Given the description of an element on the screen output the (x, y) to click on. 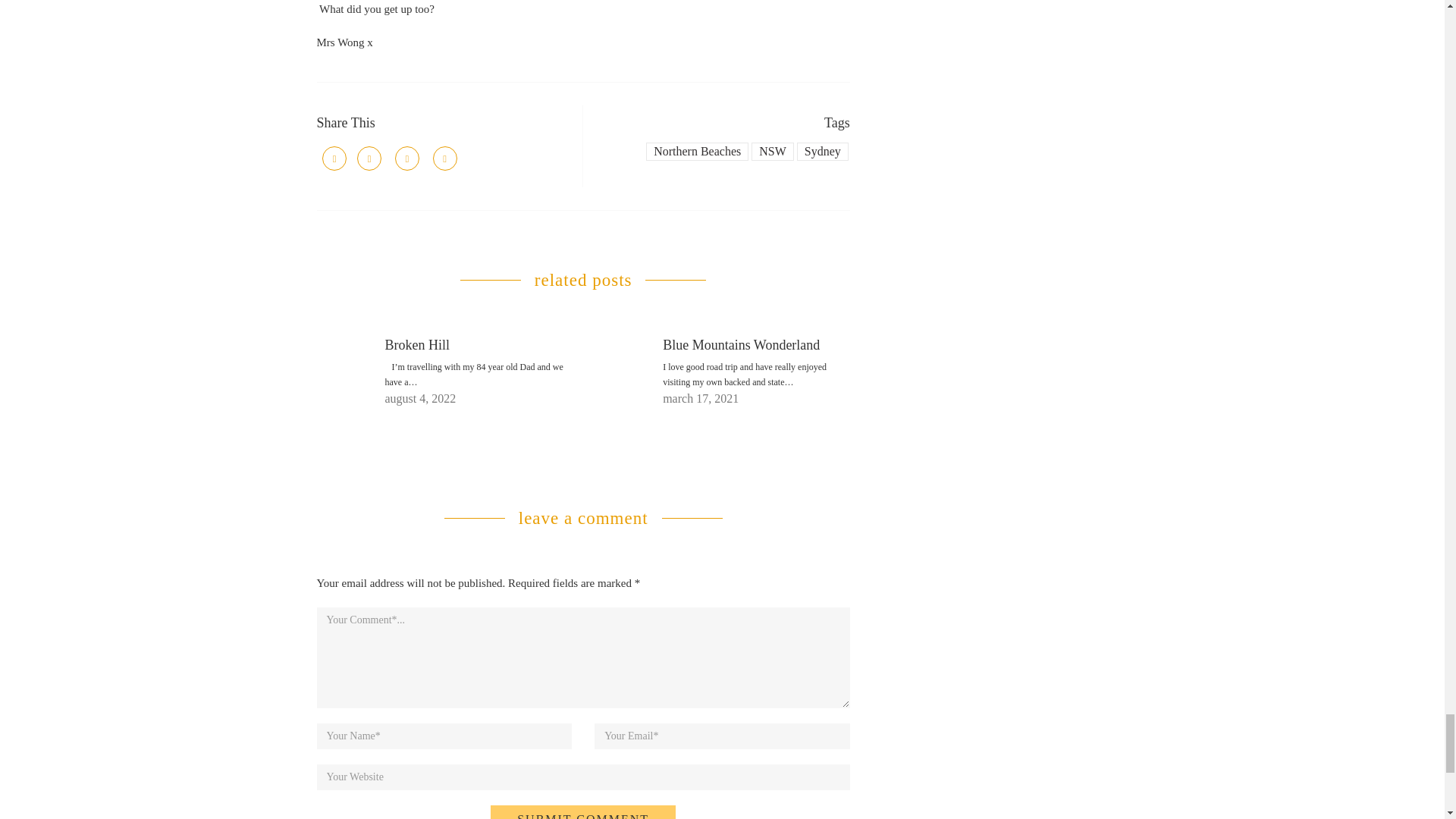
Sydney (822, 151)
Submit Comment (582, 812)
Northern Beaches (697, 151)
Blue Mountains Wonderland (740, 344)
Submit Comment (582, 812)
march 17, 2021 (700, 398)
Broken Hill (417, 344)
august 4, 2022 (421, 398)
NSW (772, 151)
